Given the description of an element on the screen output the (x, y) to click on. 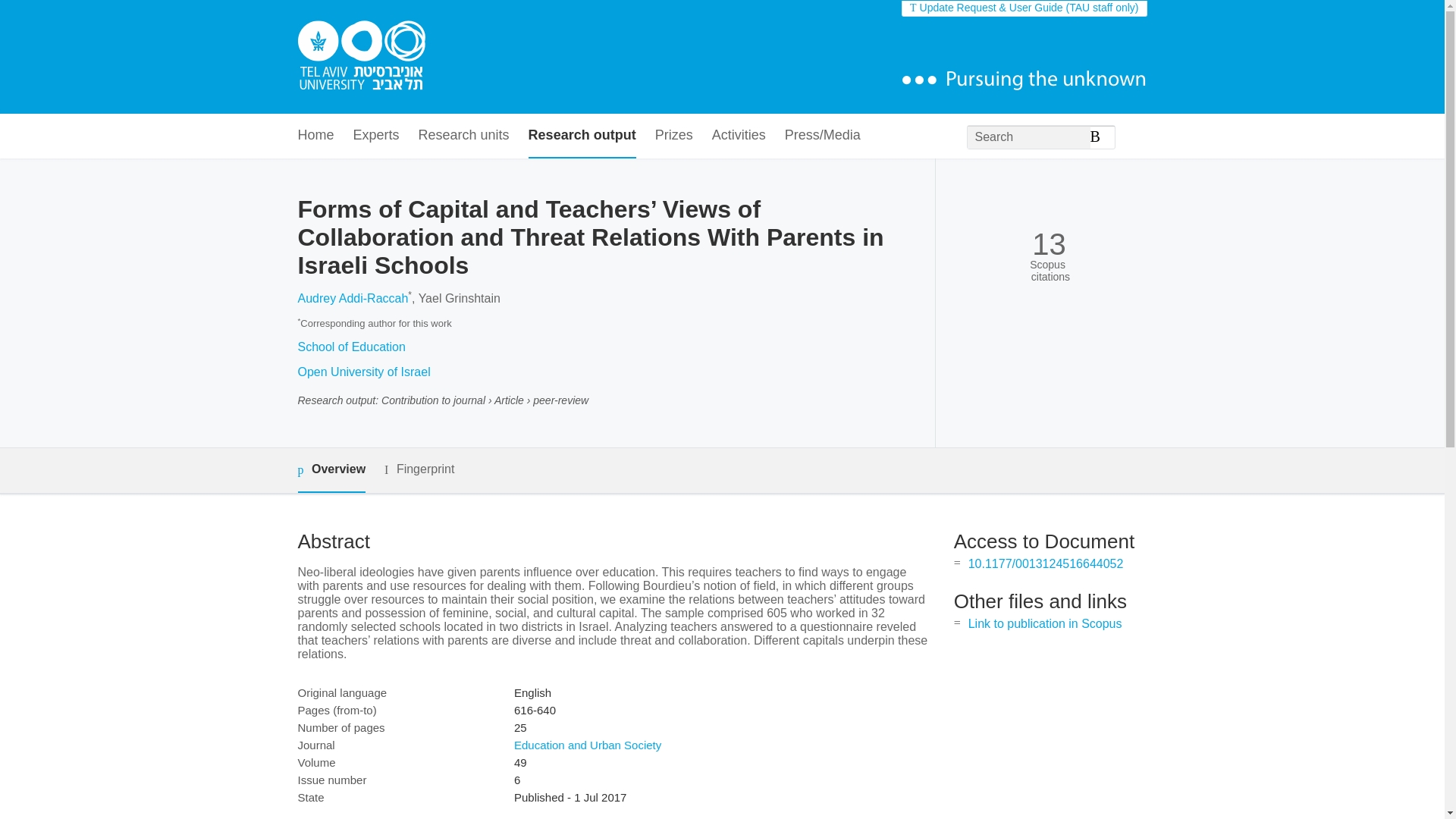
Education and Urban Society (587, 744)
Audrey Addi-Raccah (352, 297)
Research output (582, 135)
Experts (375, 135)
School of Education (350, 346)
Link to publication in Scopus (1045, 623)
Open University of Israel (363, 371)
Tel Aviv University Home (361, 56)
Fingerprint (419, 469)
